Given the description of an element on the screen output the (x, y) to click on. 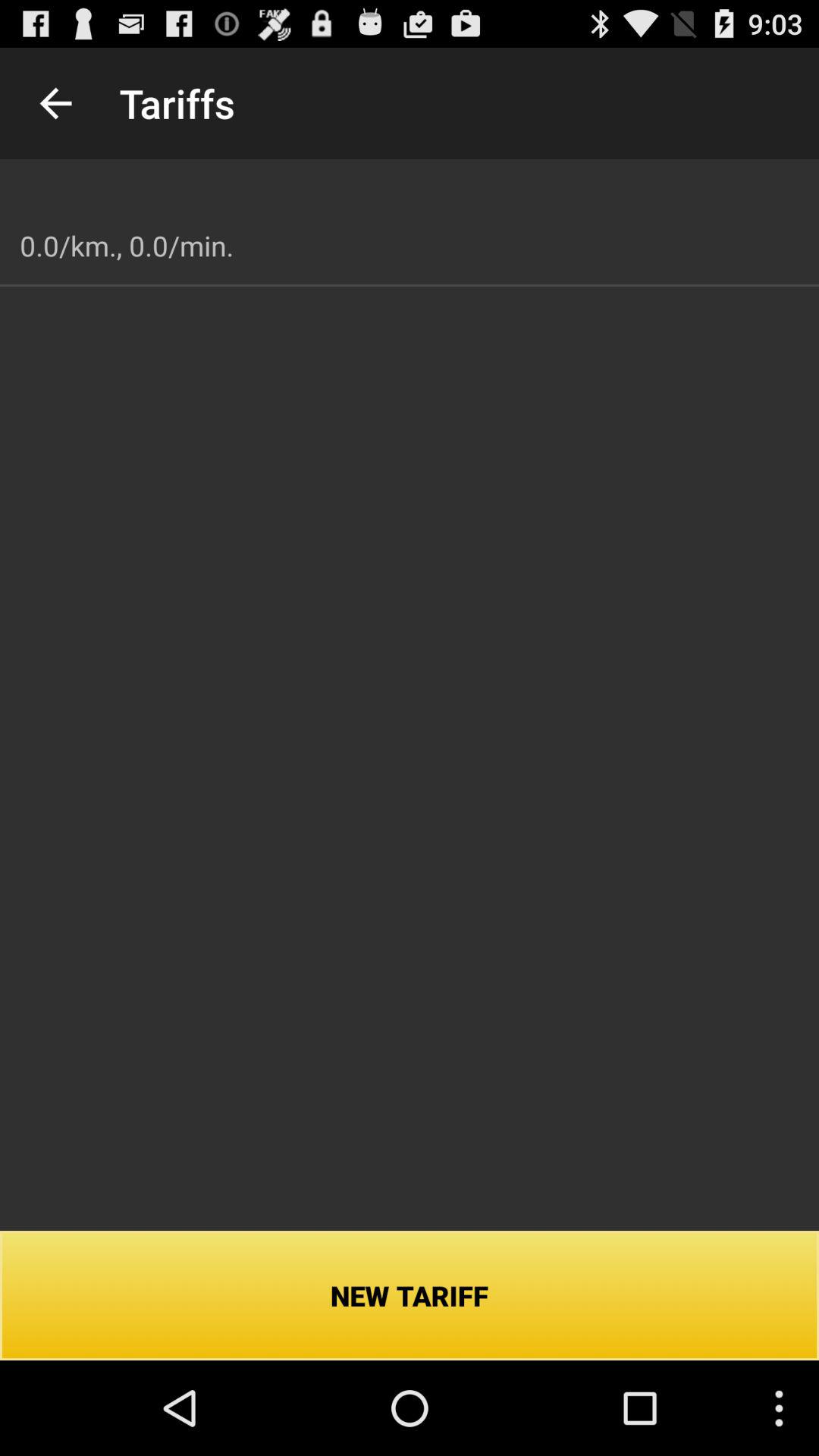
turn off item above the new tariff (126, 245)
